Given the description of an element on the screen output the (x, y) to click on. 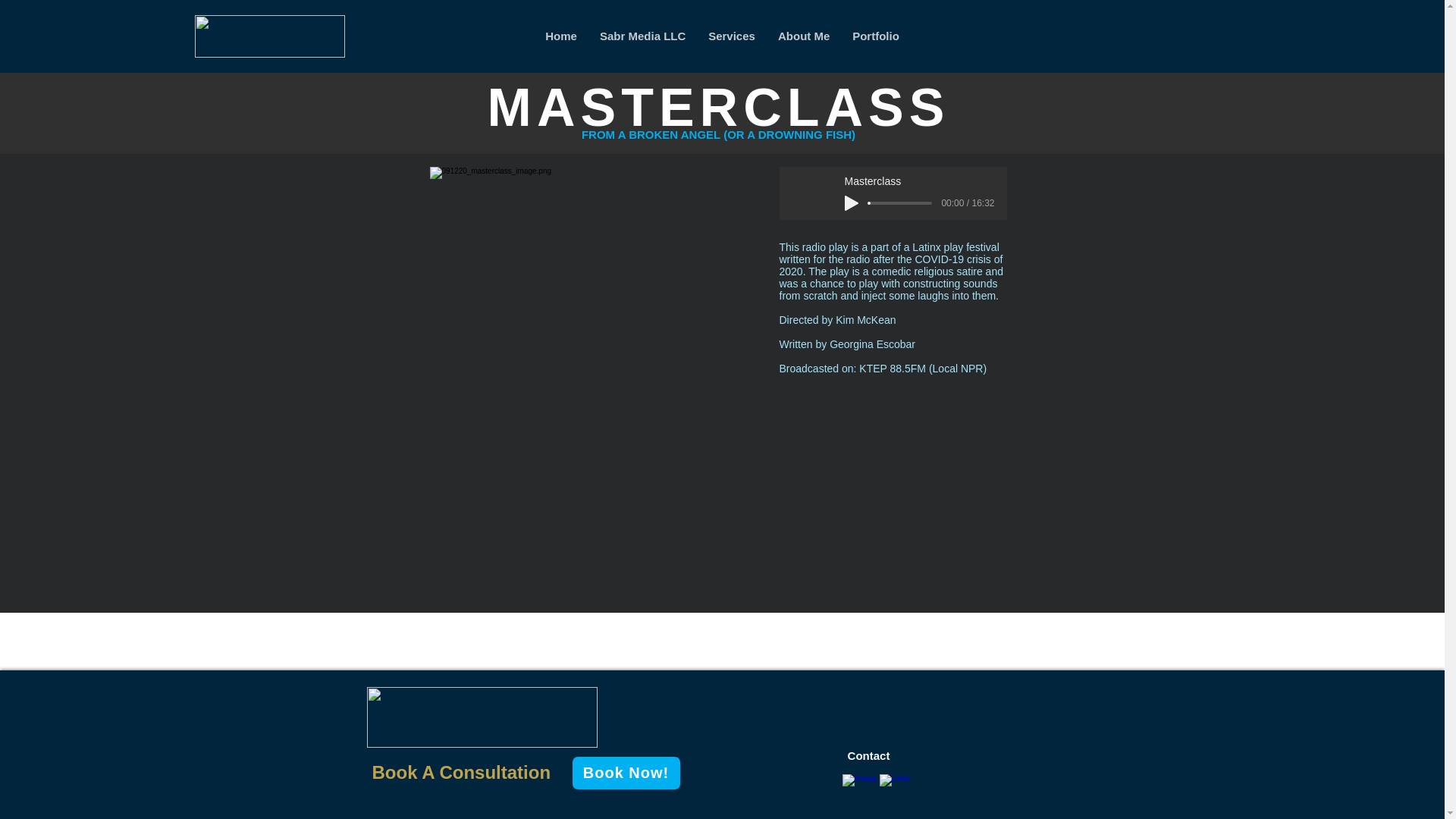
Sabr Media Logo 2.png (268, 36)
Portfolio (876, 35)
Services (732, 35)
Sabr Media LLC (642, 35)
Home (561, 35)
About Me (804, 35)
Sabr Media Logo 2.png (481, 717)
Contact (868, 755)
Book Now! (625, 772)
0 (901, 202)
